Given the description of an element on the screen output the (x, y) to click on. 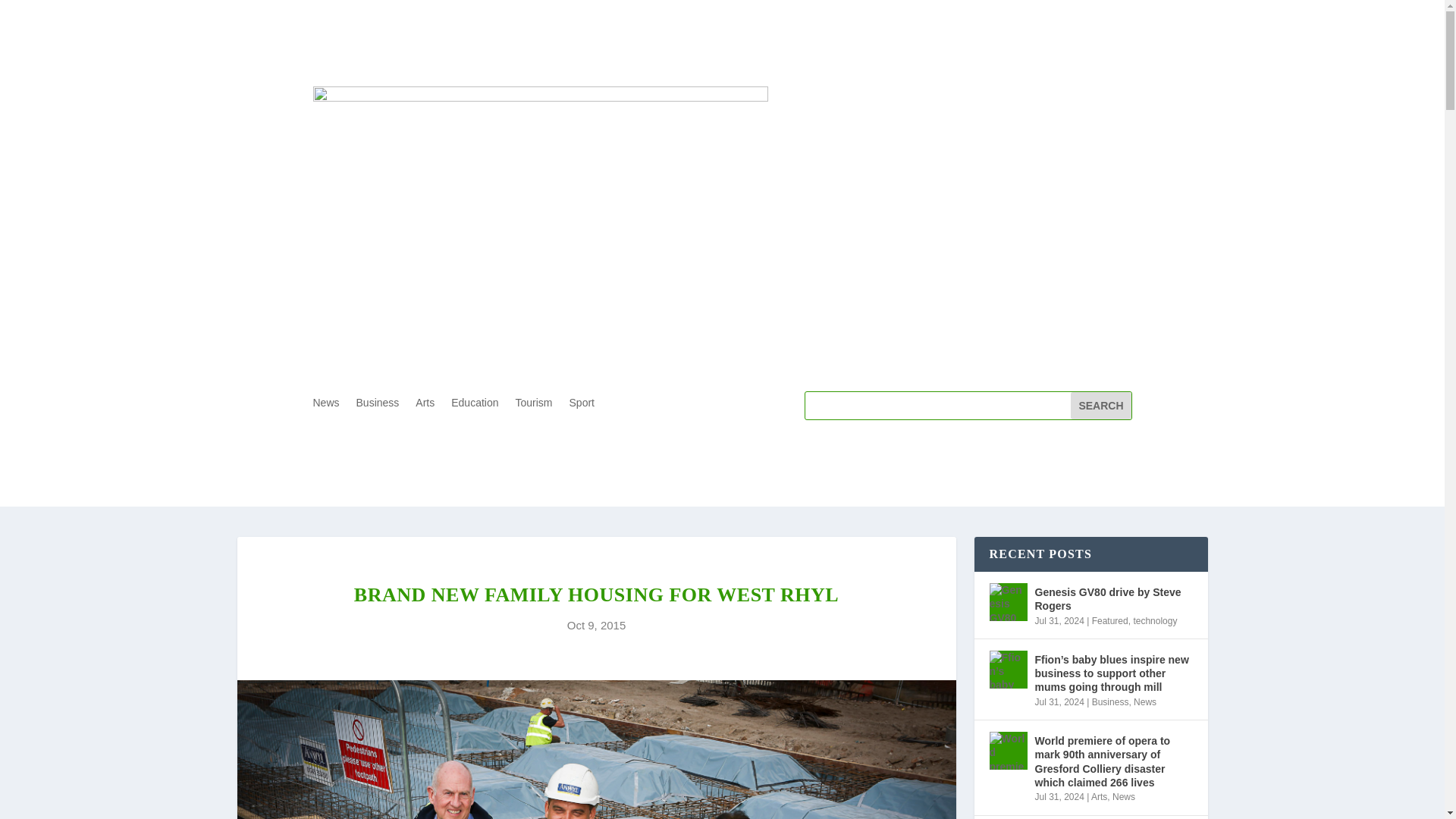
Education (474, 405)
Arts (423, 405)
Arts (1098, 796)
Genesis GV80 drive by Steve Rogers (1007, 601)
Featured (1110, 620)
Genesis GV80 drive by Steve Rogers (1112, 599)
Search (1100, 405)
Tourism (534, 405)
Search (1100, 405)
News (1145, 701)
Business (1110, 701)
Business (377, 405)
logo10 (540, 151)
Search (1100, 405)
